Given the description of an element on the screen output the (x, y) to click on. 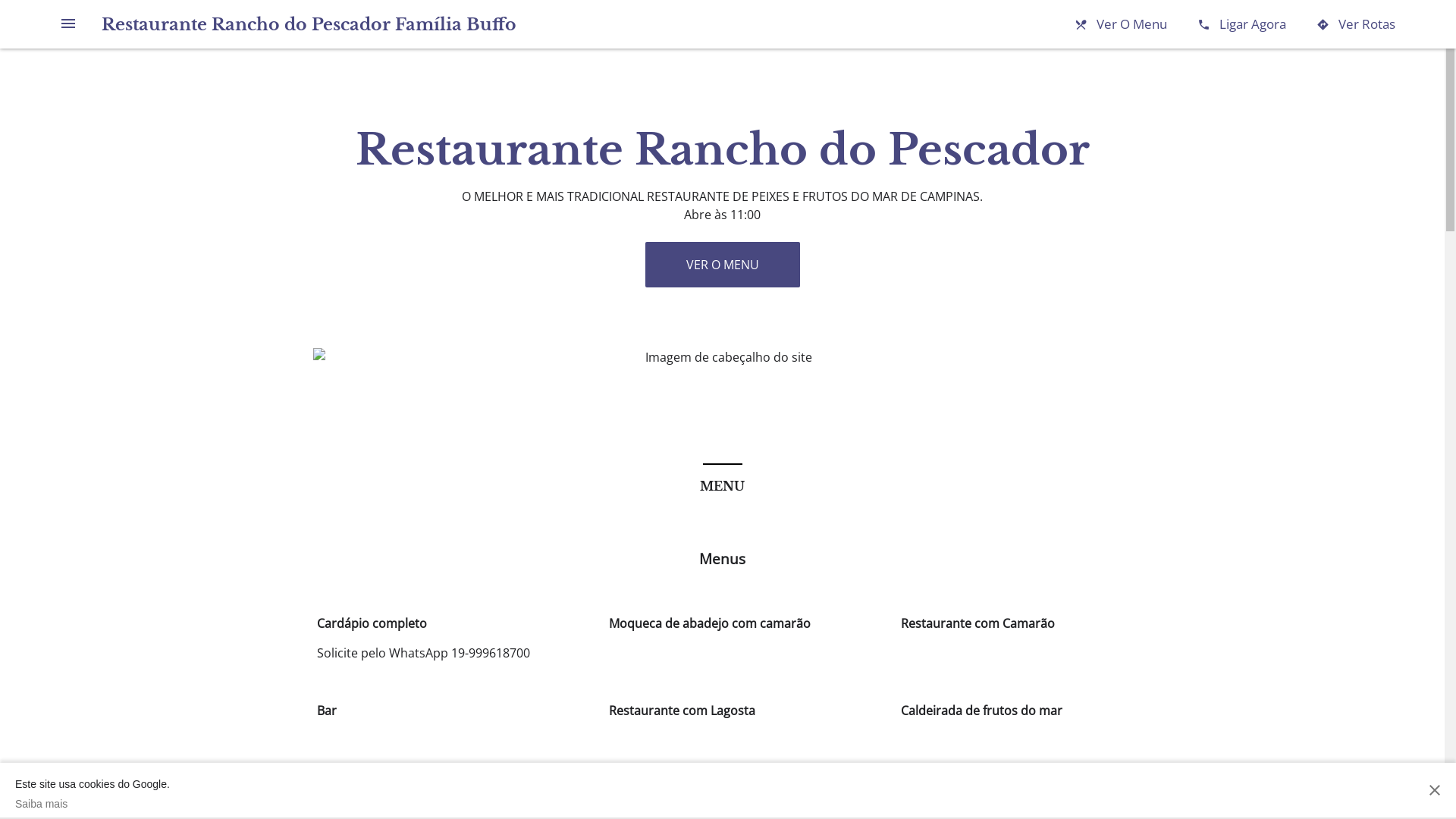
Saiba mais Element type: text (92, 803)
VER O MENU Element type: text (721, 264)
